Given the description of an element on the screen output the (x, y) to click on. 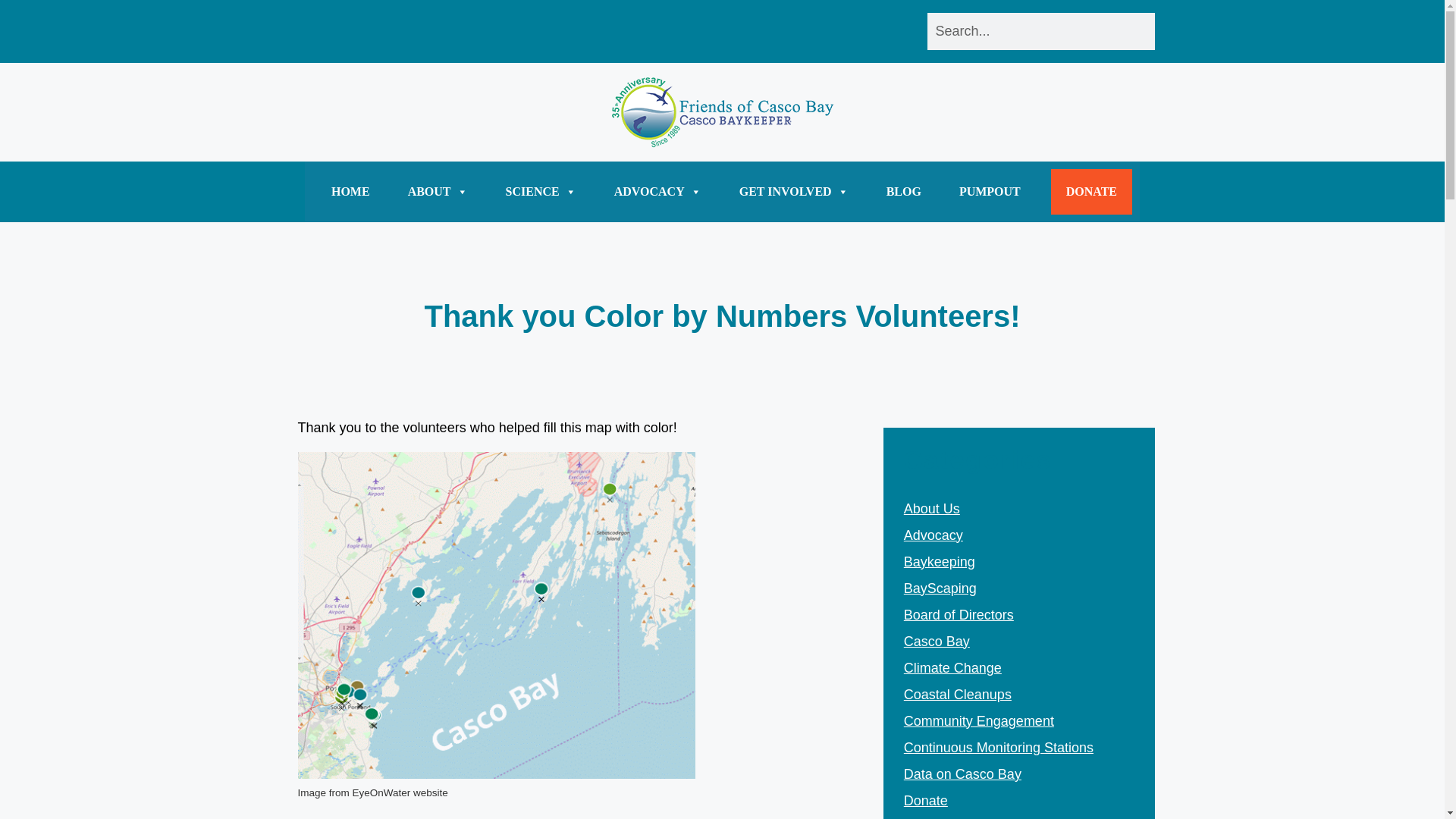
GET INVOLVED (793, 191)
HOME (350, 191)
SCIENCE (540, 191)
ABOUT (437, 191)
ADVOCACY (657, 191)
